Given the description of an element on the screen output the (x, y) to click on. 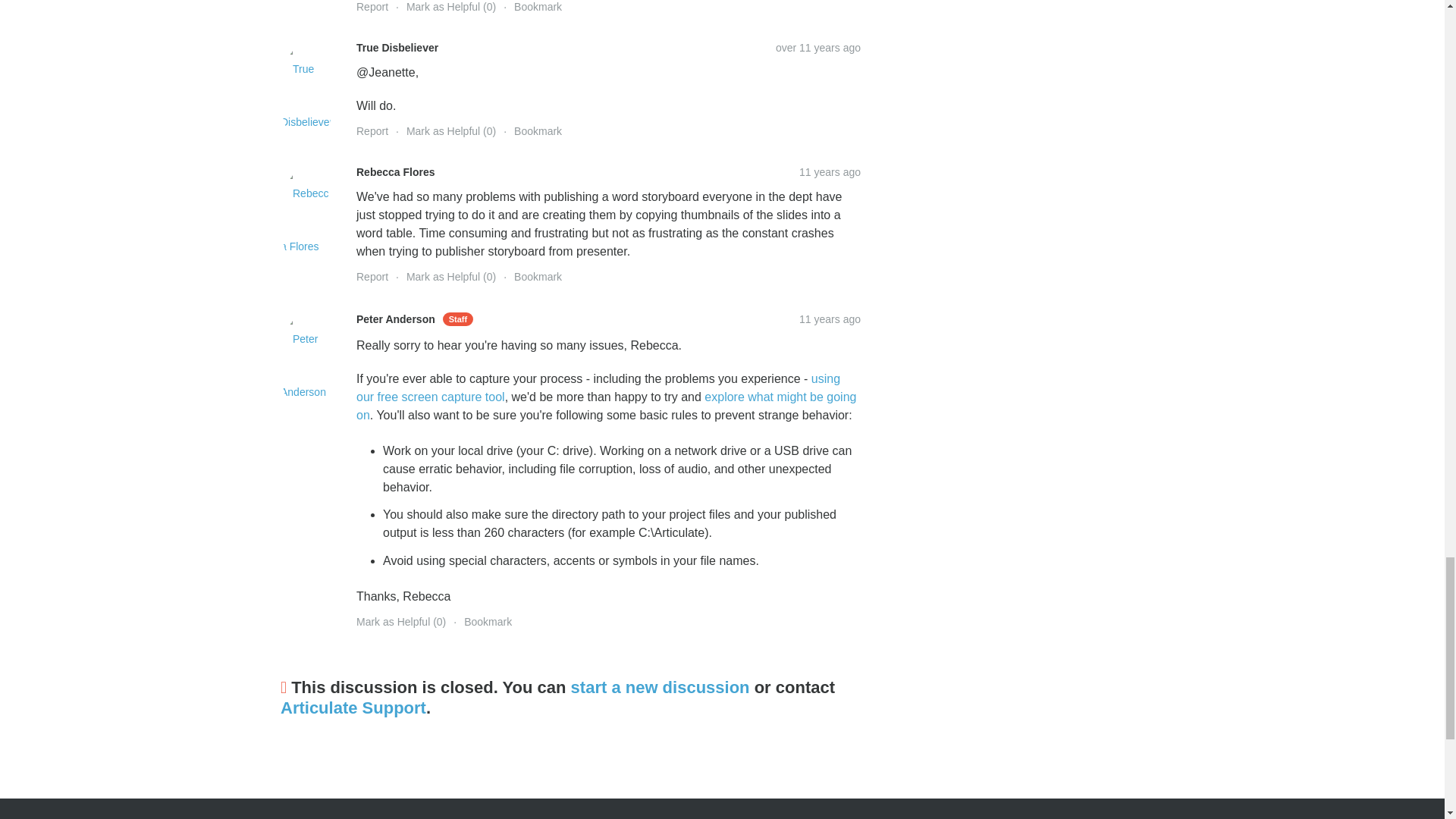
Copy URL to Clipboard (829, 172)
Copy URL to Clipboard (829, 318)
Peter Anderson (307, 365)
Copy URL to Clipboard (818, 47)
True Disbeliever (307, 95)
Rebecca Flores (307, 219)
